Given the description of an element on the screen output the (x, y) to click on. 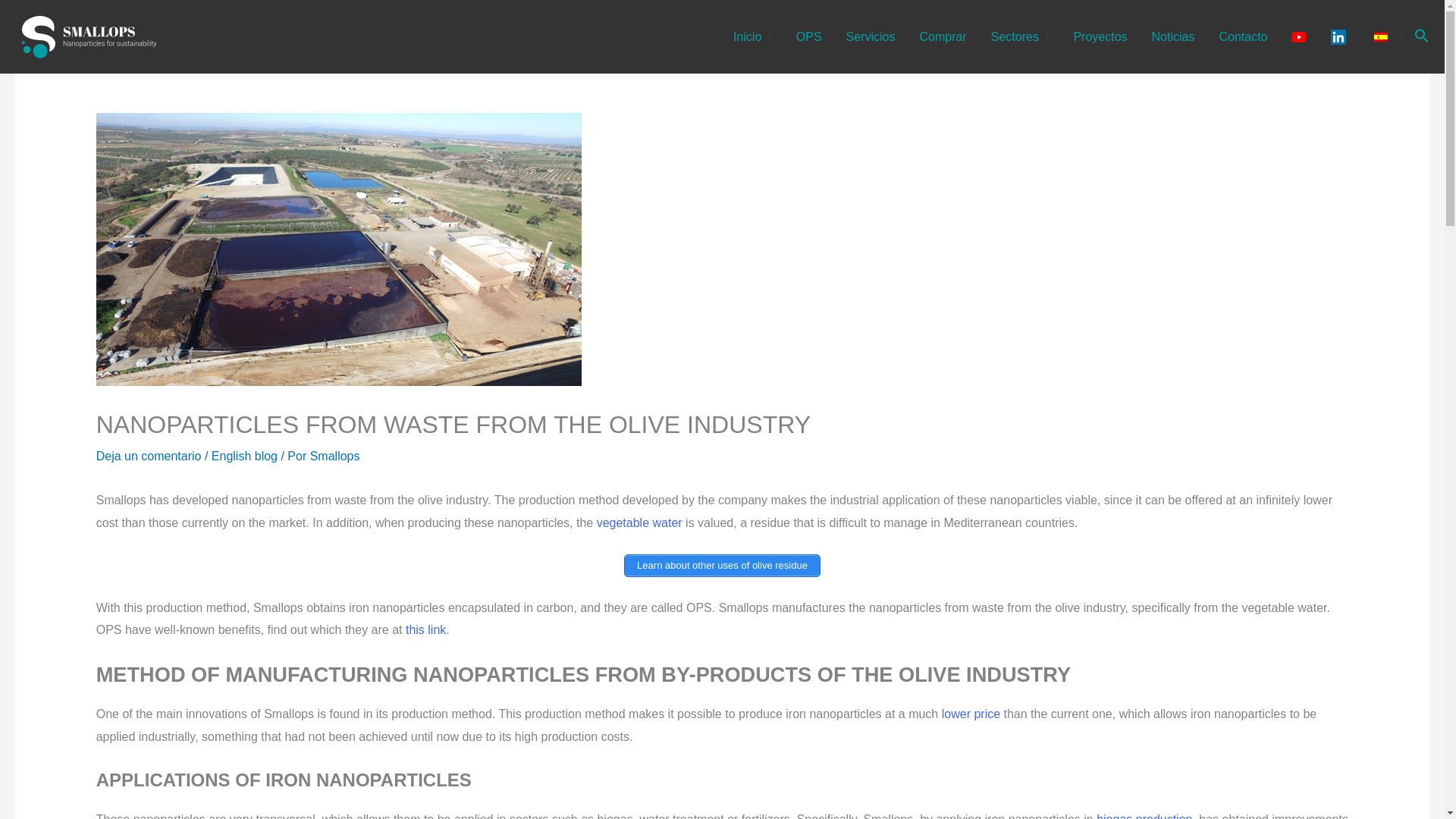
Deja un comentario (149, 455)
Sectores (1019, 36)
Noticias (1173, 36)
vegetable water (639, 522)
Smallops (334, 455)
Ver todas las entradas de Smallops (334, 455)
English blog (244, 455)
Proyectos (1099, 36)
this link (425, 629)
Spanish (1380, 35)
